Given the description of an element on the screen output the (x, y) to click on. 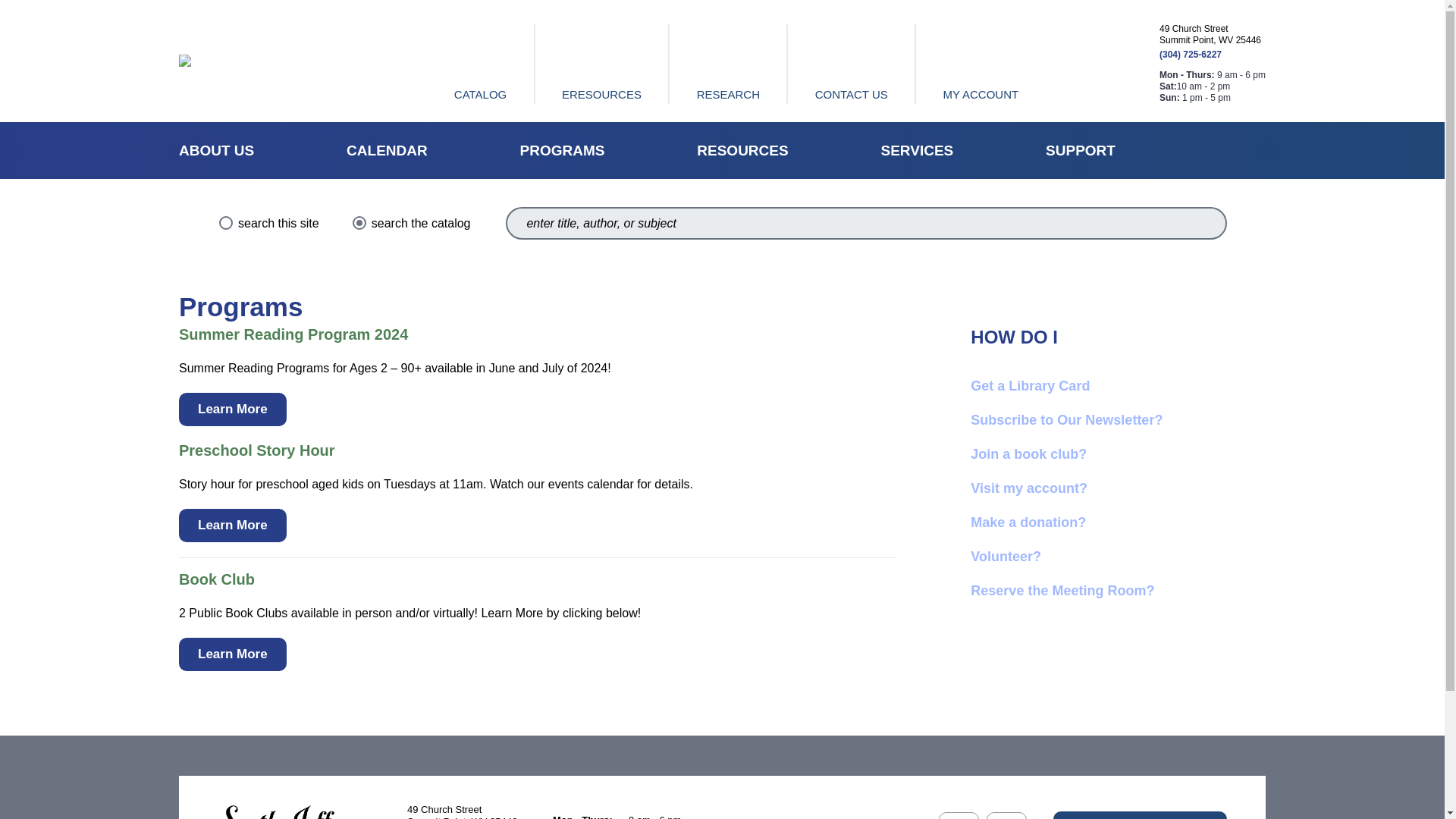
search (1203, 223)
PROGRAMS (562, 150)
CONTACT US (851, 64)
Subscribe to Our Newsletter? (1066, 420)
MY ACCOUNT (979, 64)
ERESOURCES (602, 64)
Meeting Room Reservation (1062, 590)
CALENDAR (387, 150)
Learn More (232, 654)
Get a Library Card (1030, 385)
